Given the description of an element on the screen output the (x, y) to click on. 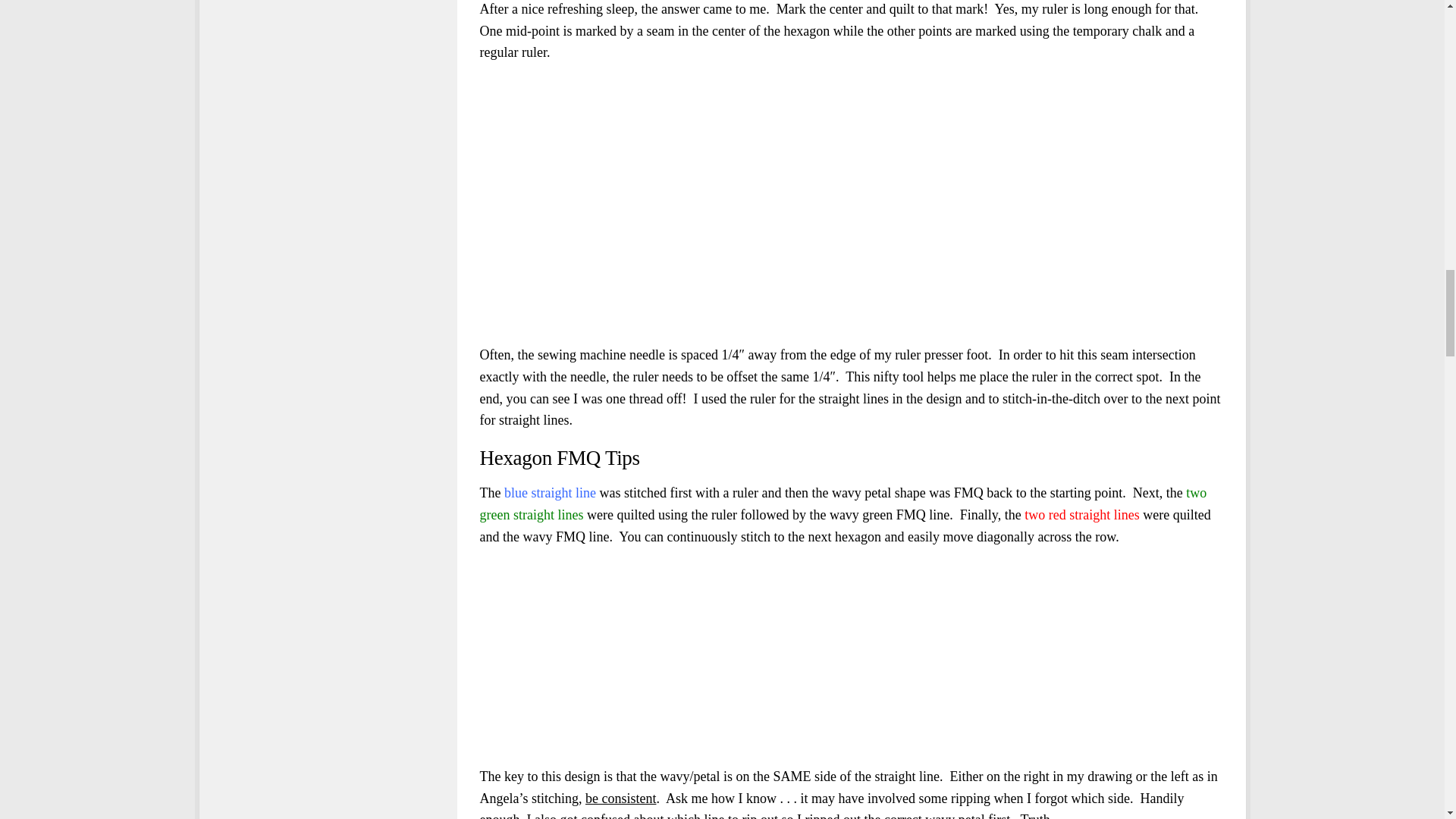
Hexi stitch pattern (574, 656)
Angela-Shape by Shape (764, 656)
